Given the description of an element on the screen output the (x, y) to click on. 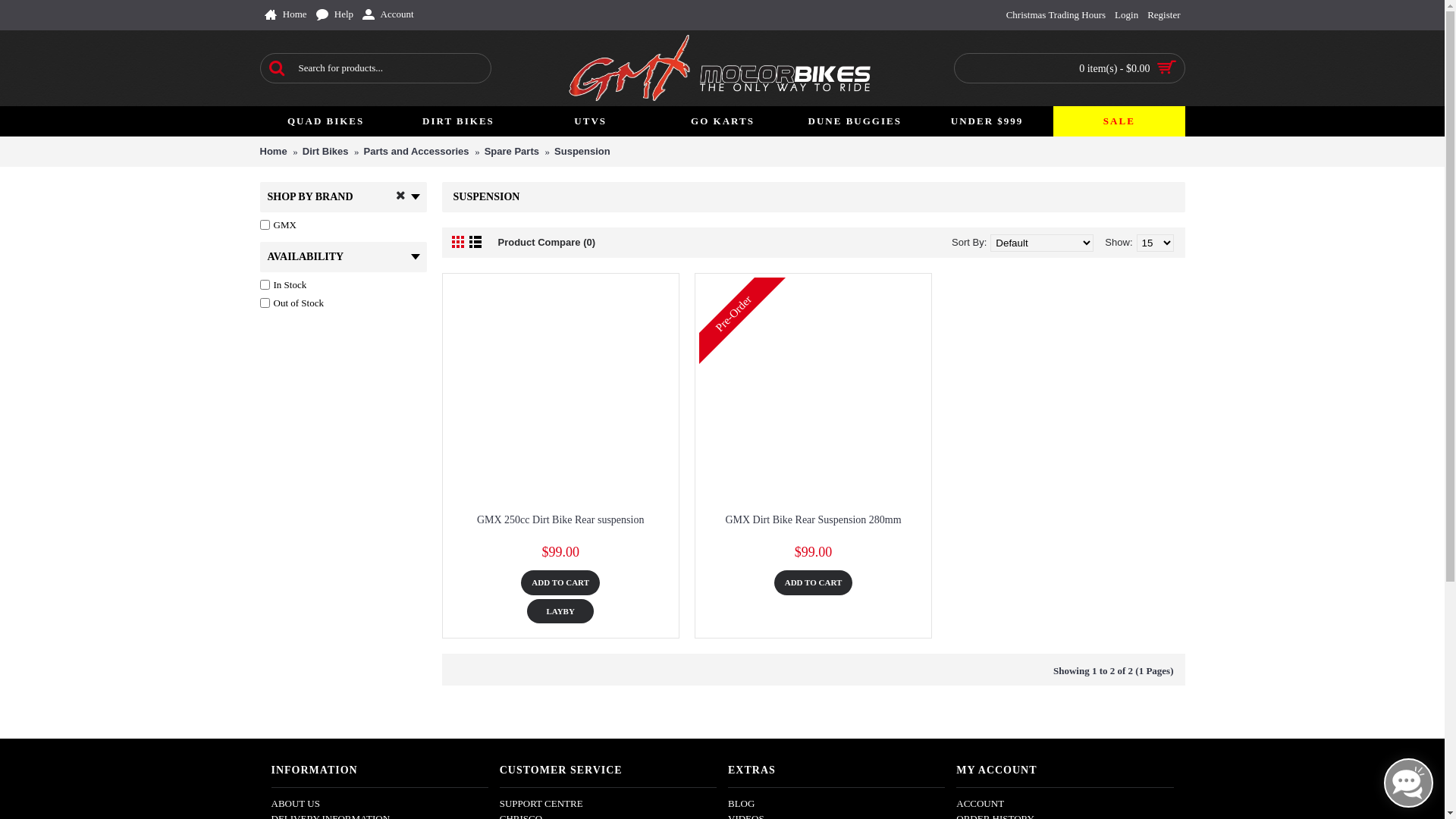
GMX Dirt Bike Rear Suspension 280mm Element type: text (813, 518)
ABOUT US Element type: text (379, 803)
GMX Motorbikes Element type: hover (721, 68)
SALE Element type: text (1118, 121)
DIRT BIKES Element type: text (458, 121)
Register Element type: text (1163, 15)
QUAD BIKES Element type: text (325, 121)
GMX 250cc Dirt Bike Rear suspension Element type: hover (559, 391)
0 item(s) - $0.00 Element type: text (1068, 67)
SUPPORT CENTRE Element type: text (607, 803)
ADD TO CART Element type: text (813, 582)
Account Element type: text (387, 15)
UNDER $999 Element type: text (986, 121)
Product Compare (0) Element type: text (546, 242)
Suspension Element type: text (582, 151)
Parts and Accessories Element type: text (416, 151)
GMX 250cc Dirt Bike Rear suspension Element type: text (559, 518)
ADD TO CART Element type: text (559, 582)
Help Element type: text (334, 15)
GMX Dirt Bike Rear Suspension 280mm Element type: hover (813, 391)
DUNE BUGGIES Element type: text (854, 121)
  Element type: text (813, 611)
ACCOUNT Element type: text (1064, 803)
Dirt Bikes Element type: text (325, 151)
LAYBY Element type: text (560, 611)
0 item(s) - $0.00 Element type: text (1068, 68)
BLOG Element type: text (836, 803)
GO KARTS Element type: text (721, 121)
Home Element type: text (272, 151)
Christmas Trading Hours Element type: text (1055, 15)
Spare Parts Element type: text (511, 151)
UTVS Element type: text (589, 121)
Home Element type: text (284, 15)
Login Element type: text (1126, 15)
